Given the description of an element on the screen output the (x, y) to click on. 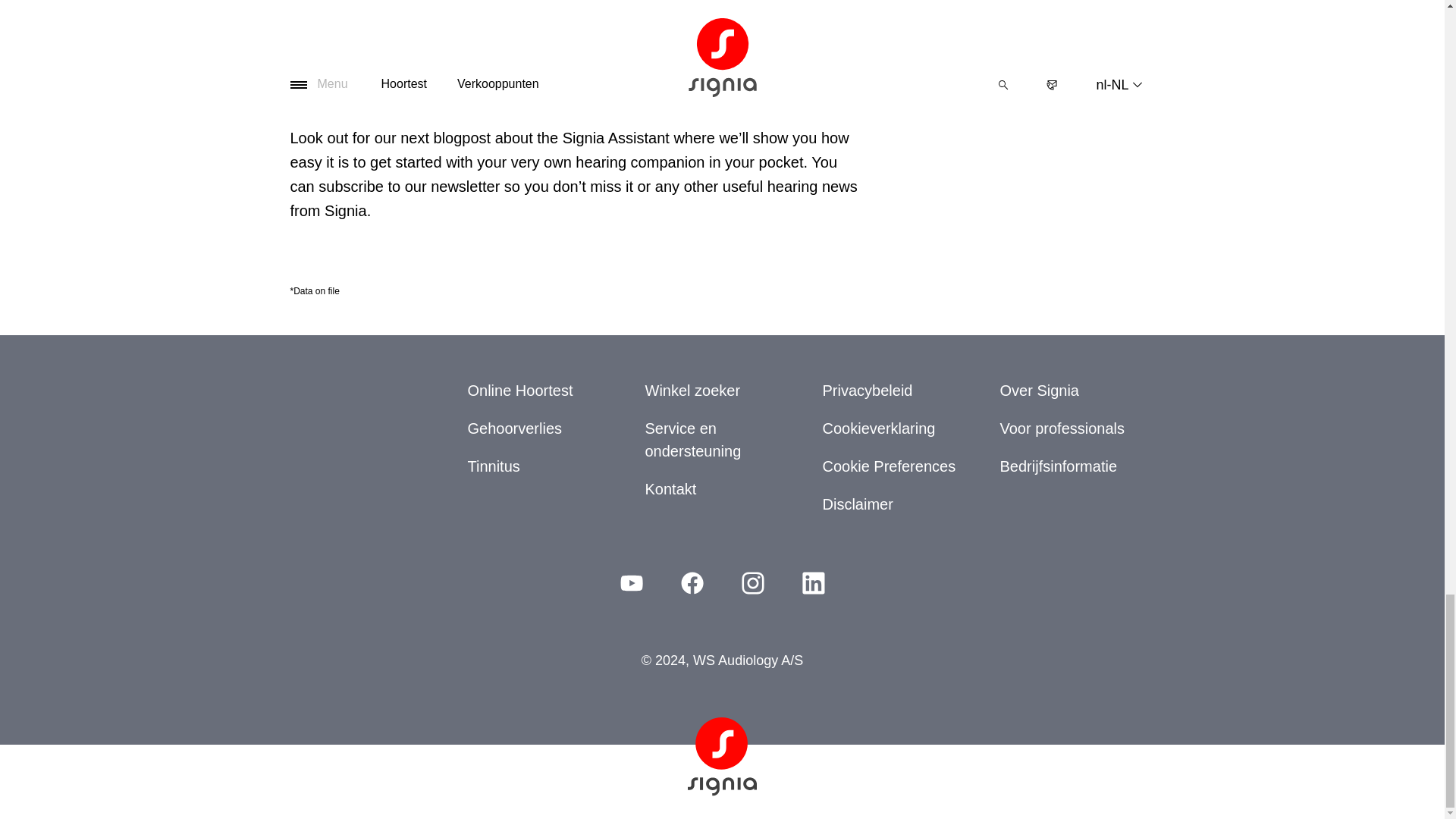
Over Signia (1044, 390)
Tinnitus (499, 466)
Kontakt (676, 488)
Online Hoortest (525, 390)
Cookie Preferences (894, 466)
Disclaimer (863, 504)
Cookieverklaring (884, 428)
Winkel zoeker (698, 390)
Privacybeleid (872, 390)
Service en ondersteuning (698, 439)
Voor professionals (1066, 428)
Bedrijfsinformatie (1063, 466)
Gehoorverlies (520, 428)
